Given the description of an element on the screen output the (x, y) to click on. 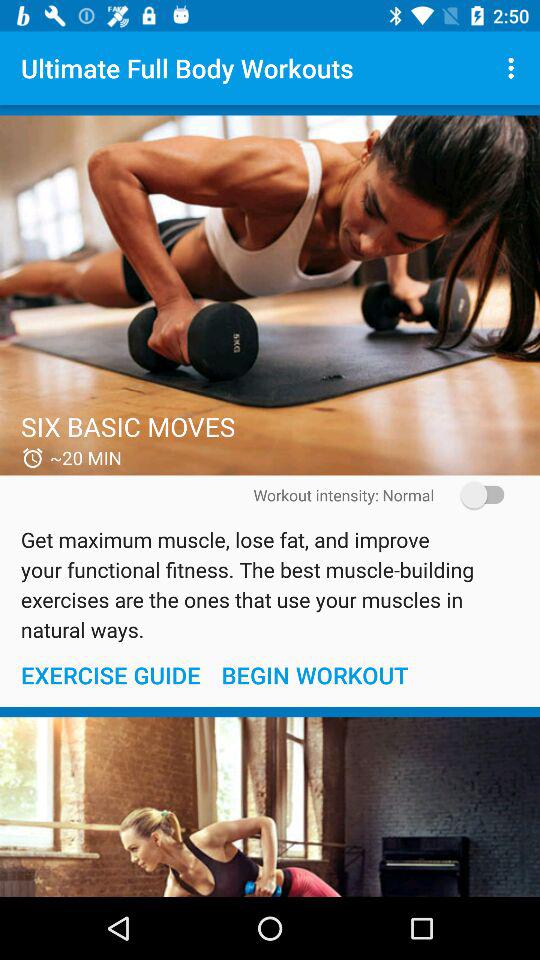
select the icon to the right of ultimate full body app (513, 67)
